Given the description of an element on the screen output the (x, y) to click on. 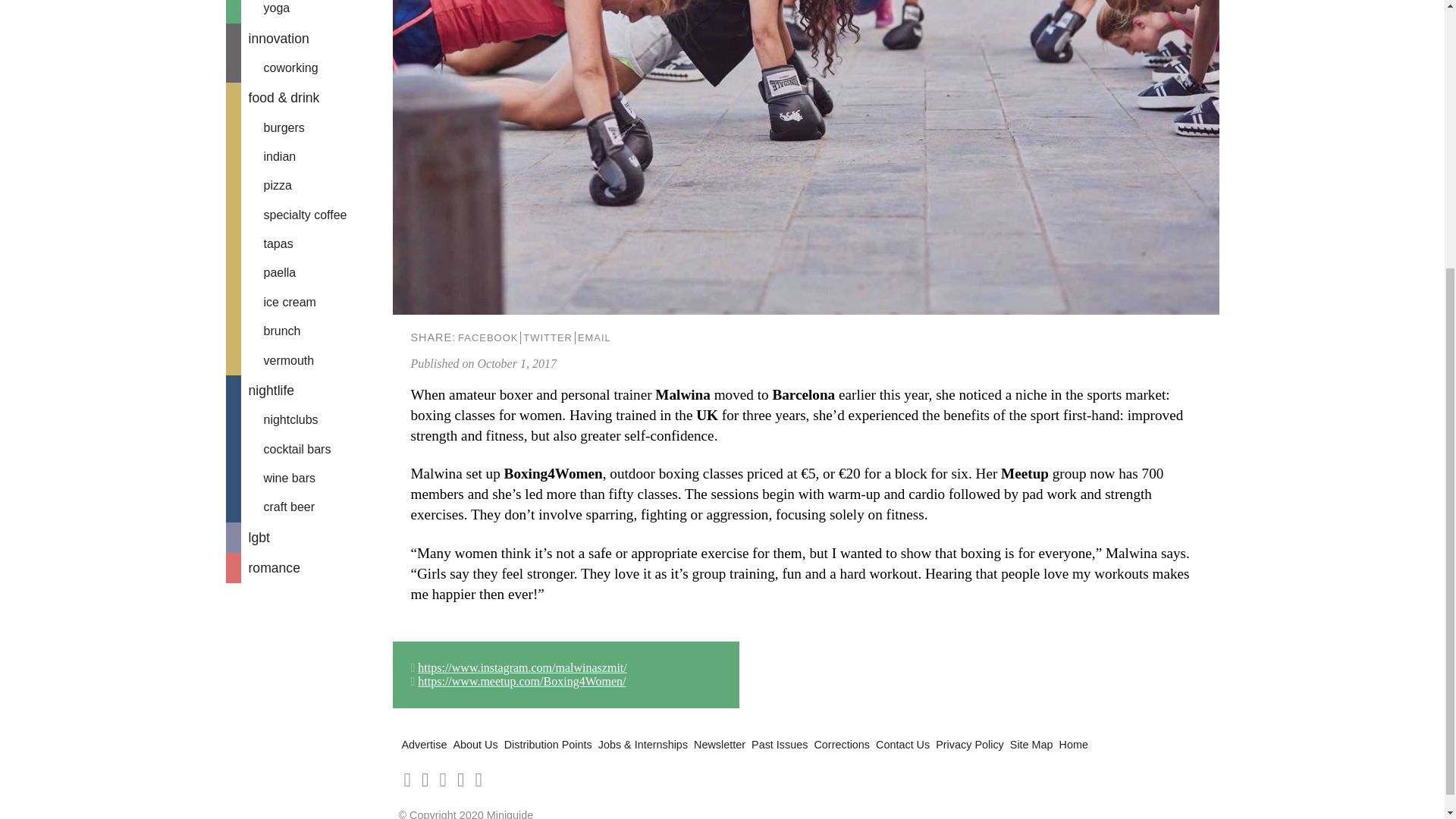
indian (309, 156)
Twitter - Miniguide (459, 780)
iOS app - Miniguide (407, 780)
Instagram - Miniguide (477, 780)
vermouth (309, 360)
About Us (474, 744)
nightclubs (309, 419)
TWITTER (547, 337)
ice cream (309, 302)
EMAIL (593, 337)
Facebook - Miniguide (442, 780)
FACEBOOK (487, 337)
specialty coffee (309, 215)
paella (309, 272)
pizza (309, 185)
